Given the description of an element on the screen output the (x, y) to click on. 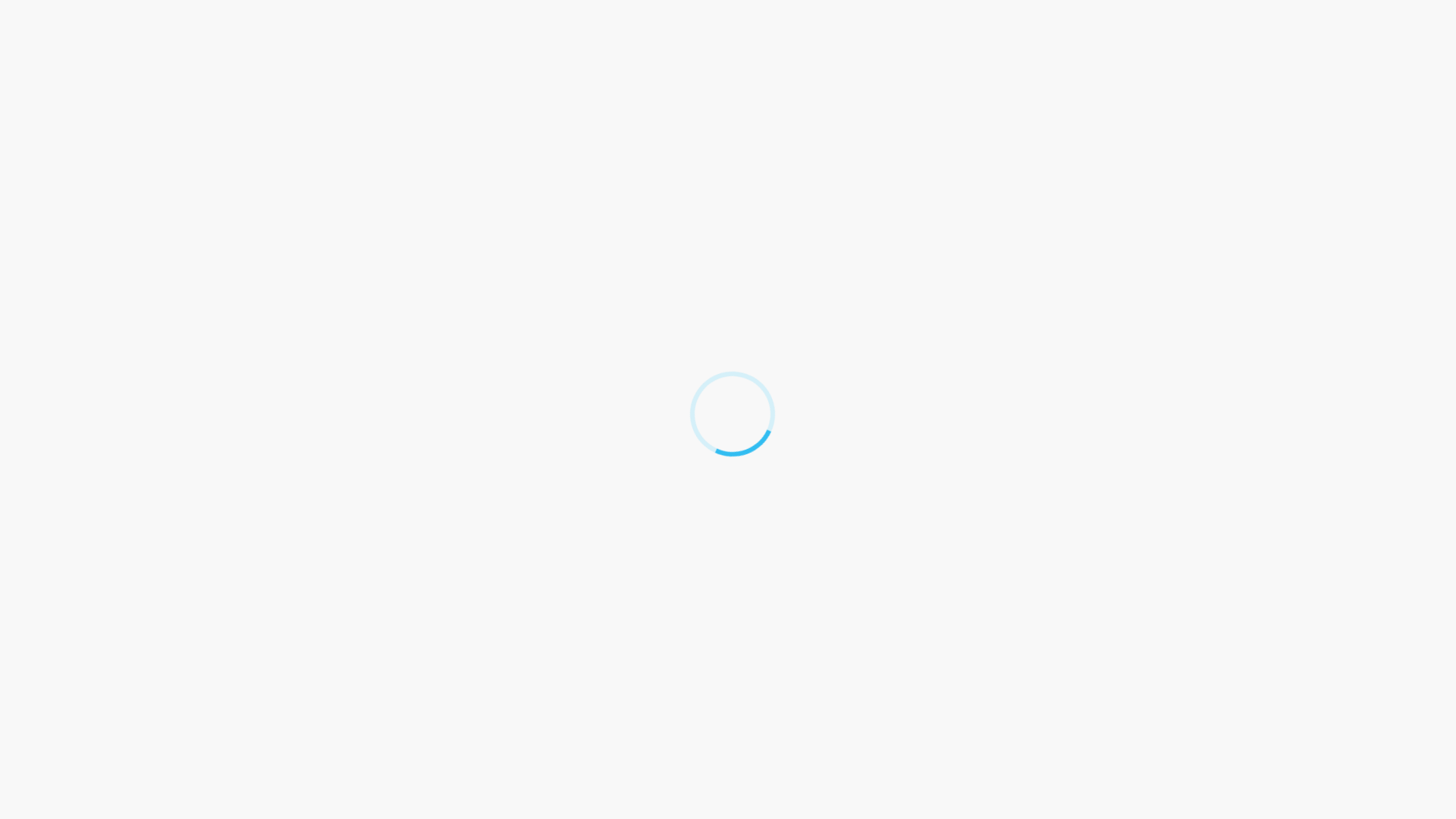
Contact Us Element type: text (689, 676)
Firefox Element type: text (174, 528)
Edge Element type: text (170, 344)
Safari Element type: text (171, 410)
Firefox Element type: text (174, 377)
Continue Element type: text (177, 573)
Safari Element type: text (171, 495)
Prosperity Bank Element type: hover (156, 16)
Refresh Element type: text (23, 9)
Chrome Element type: text (177, 444)
